Given the description of an element on the screen output the (x, y) to click on. 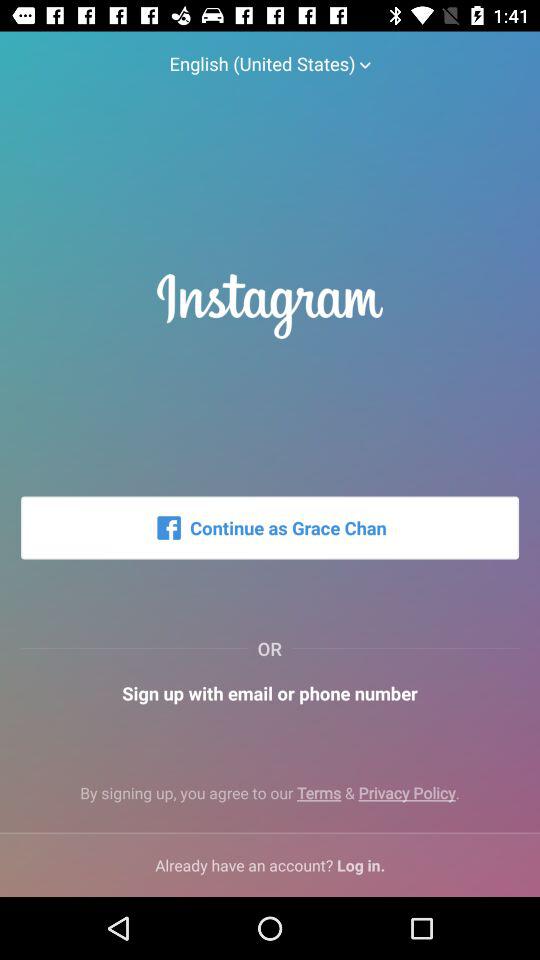
swipe until the already have an icon (270, 864)
